Given the description of an element on the screen output the (x, y) to click on. 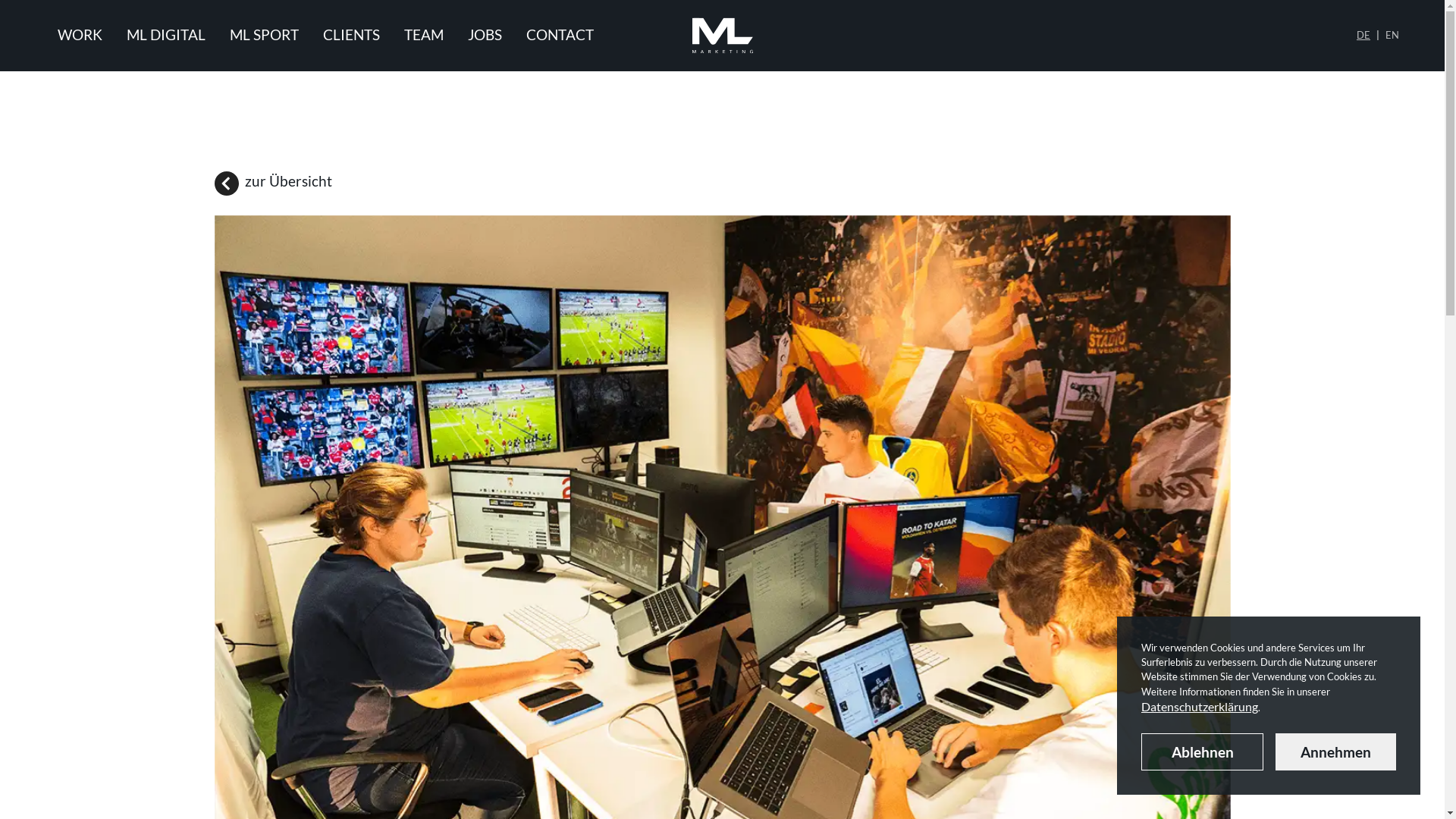
WORK Element type: text (79, 35)
ML DIGITAL Element type: text (165, 35)
DE Element type: text (1363, 35)
CLIENTS Element type: text (351, 35)
TEAM Element type: text (423, 35)
CONTACT Element type: text (559, 35)
Annehmen Element type: text (1335, 751)
Ablehnen Element type: text (1202, 751)
ML SPORT Element type: text (263, 35)
EN Element type: text (1392, 35)
JOBS Element type: text (484, 35)
